Given the description of an element on the screen output the (x, y) to click on. 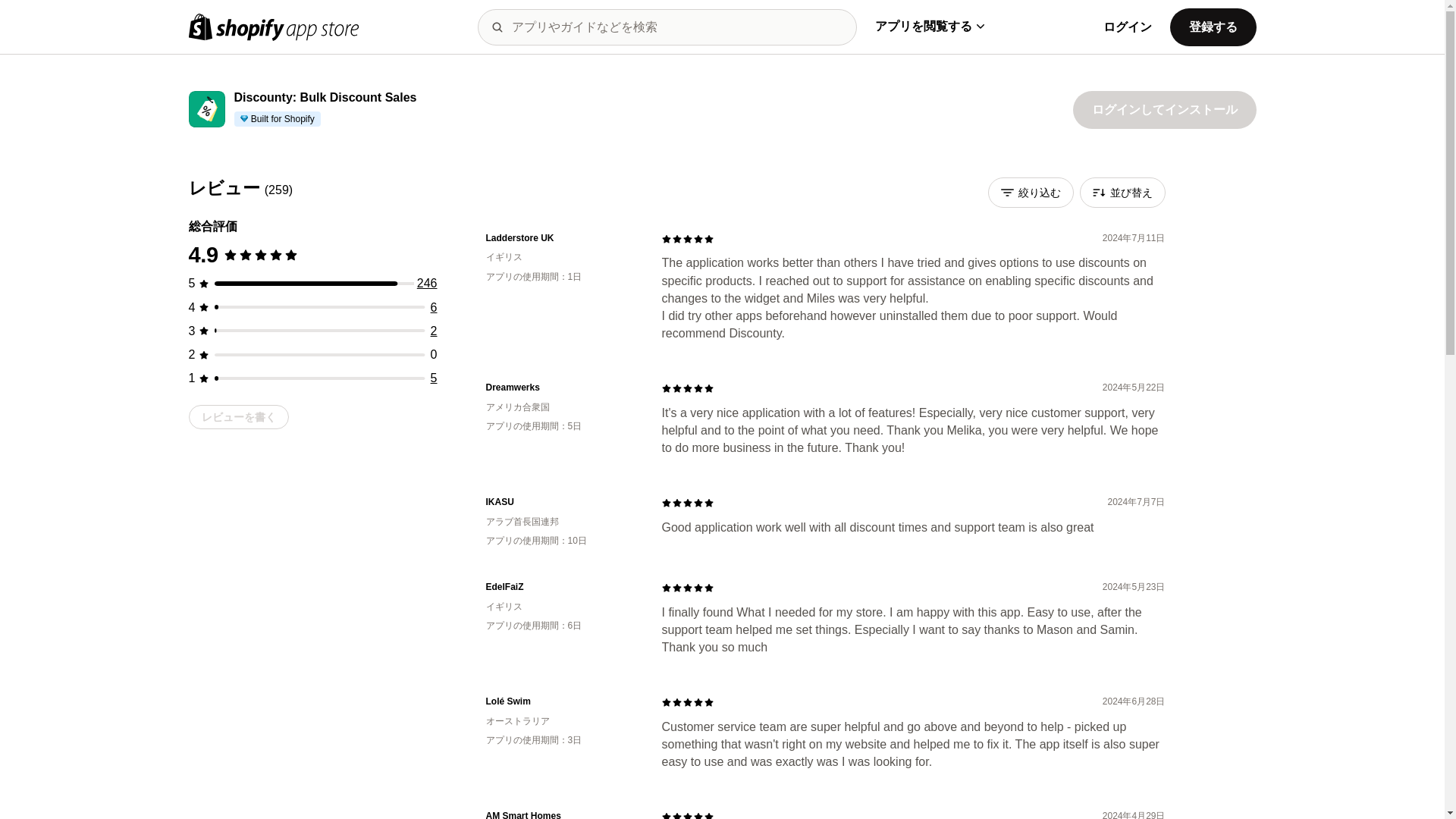
AM Smart Homes (560, 814)
IKASU (560, 502)
246 (427, 282)
Discounty: Bulk Discount Sales (324, 97)
EdelFaiZ (560, 586)
Dreamwerks (560, 387)
Ladderstore UK (560, 237)
